Given the description of an element on the screen output the (x, y) to click on. 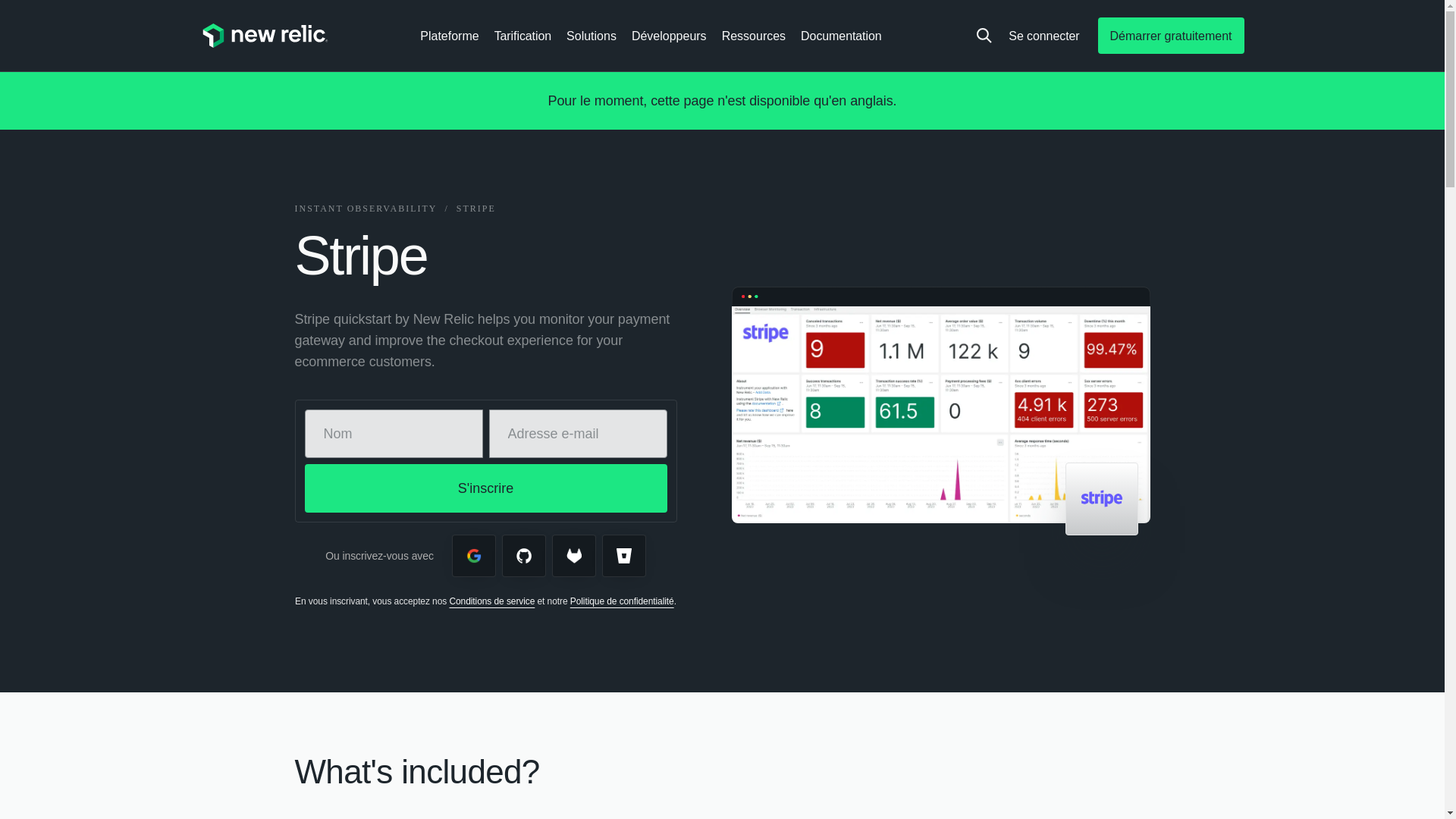
Tarification (522, 35)
New Relic Logo (264, 35)
Plateforme (449, 35)
